Given the description of an element on the screen output the (x, y) to click on. 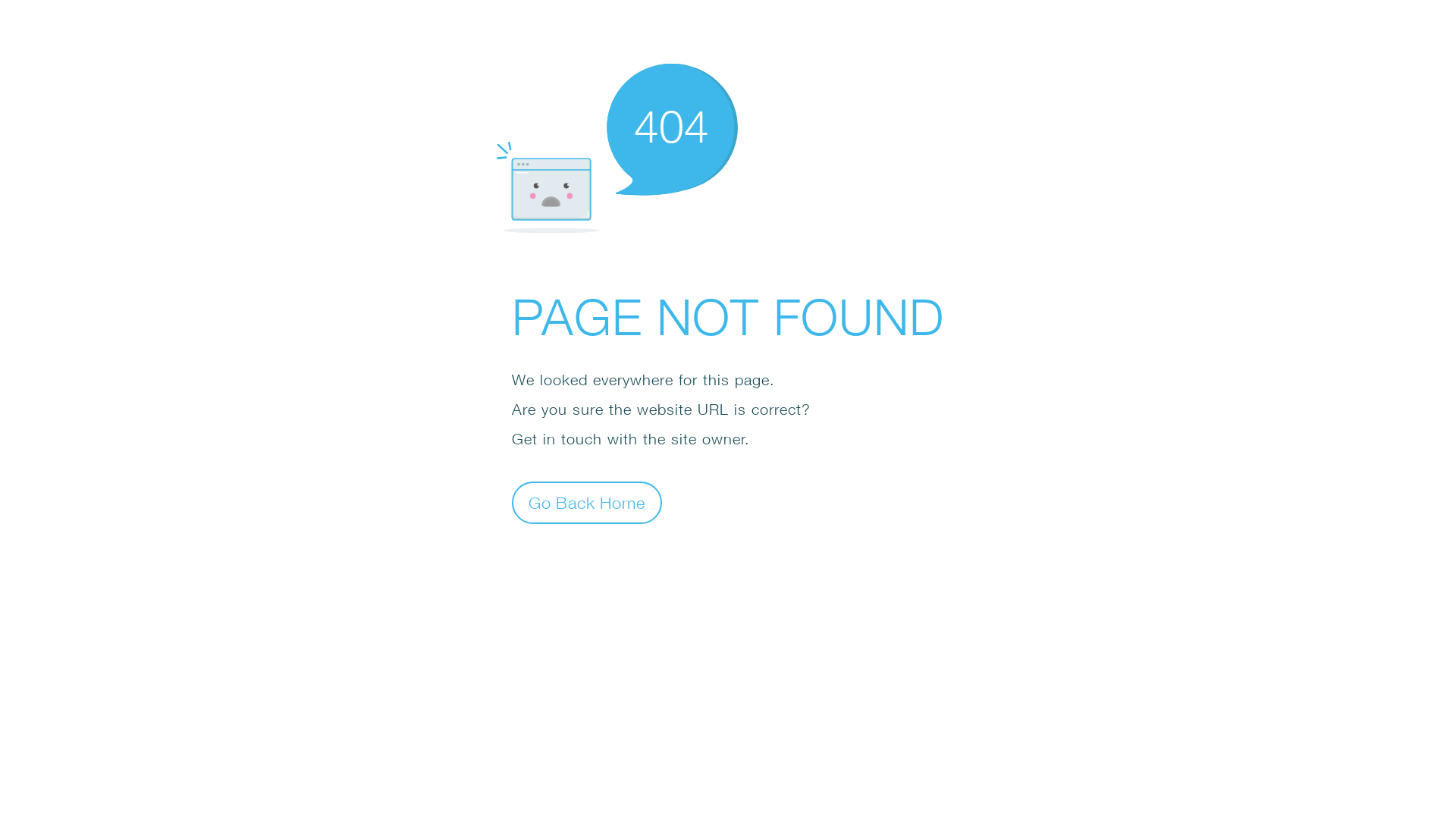
Go Back Home Element type: text (586, 502)
